Given the description of an element on the screen output the (x, y) to click on. 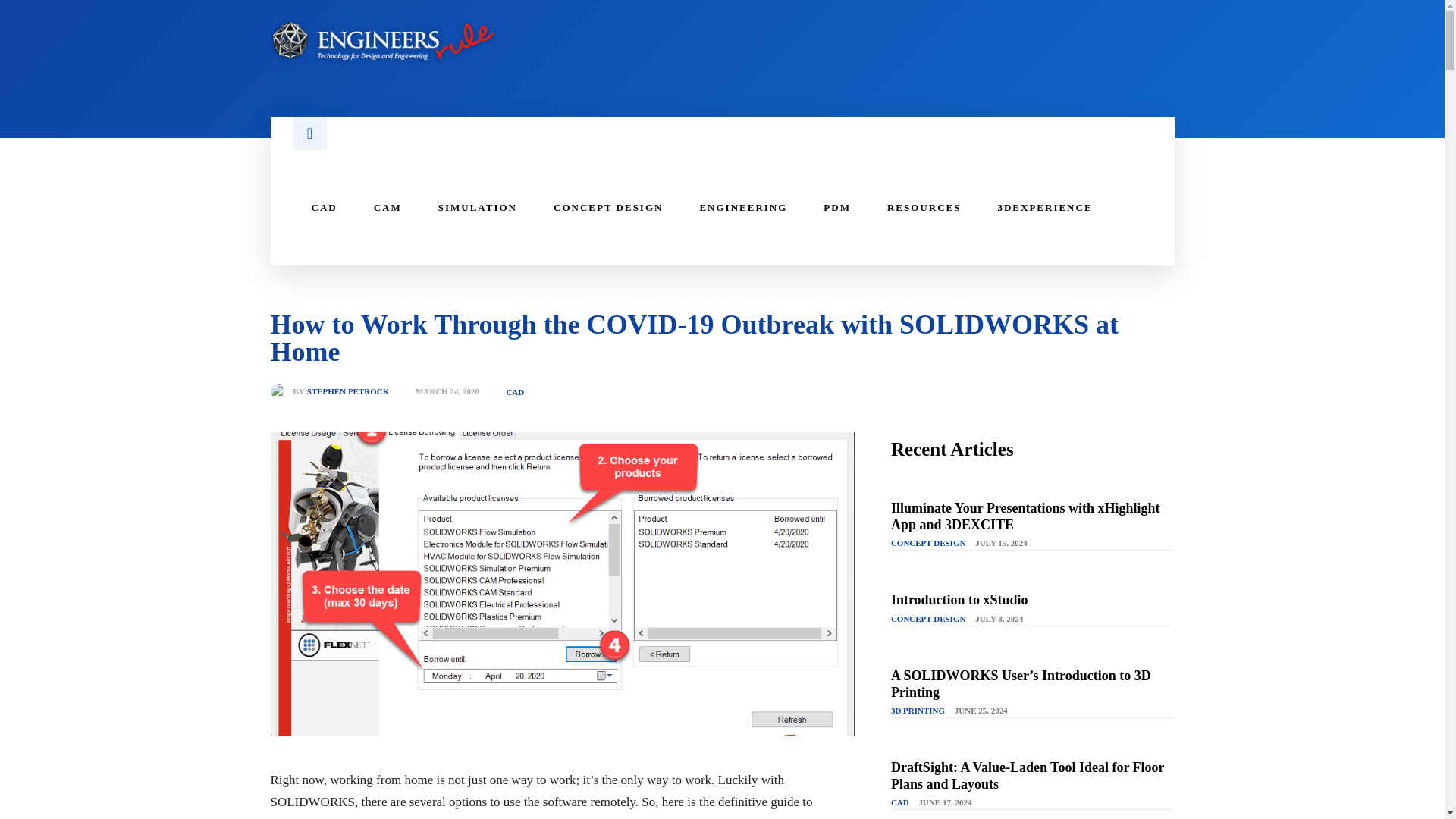
STEPHEN PETROCK (348, 391)
Introduction to xStudio (959, 599)
CAD (514, 392)
CONCEPT DESIGN (928, 543)
PDM (837, 207)
CAM (387, 207)
CAD (323, 207)
Introduction to xStudio (959, 599)
CONCEPT DESIGN (608, 207)
3DEXPERIENCE (1043, 207)
SIMULATION (477, 207)
ENGINEERING (743, 207)
